Given the description of an element on the screen output the (x, y) to click on. 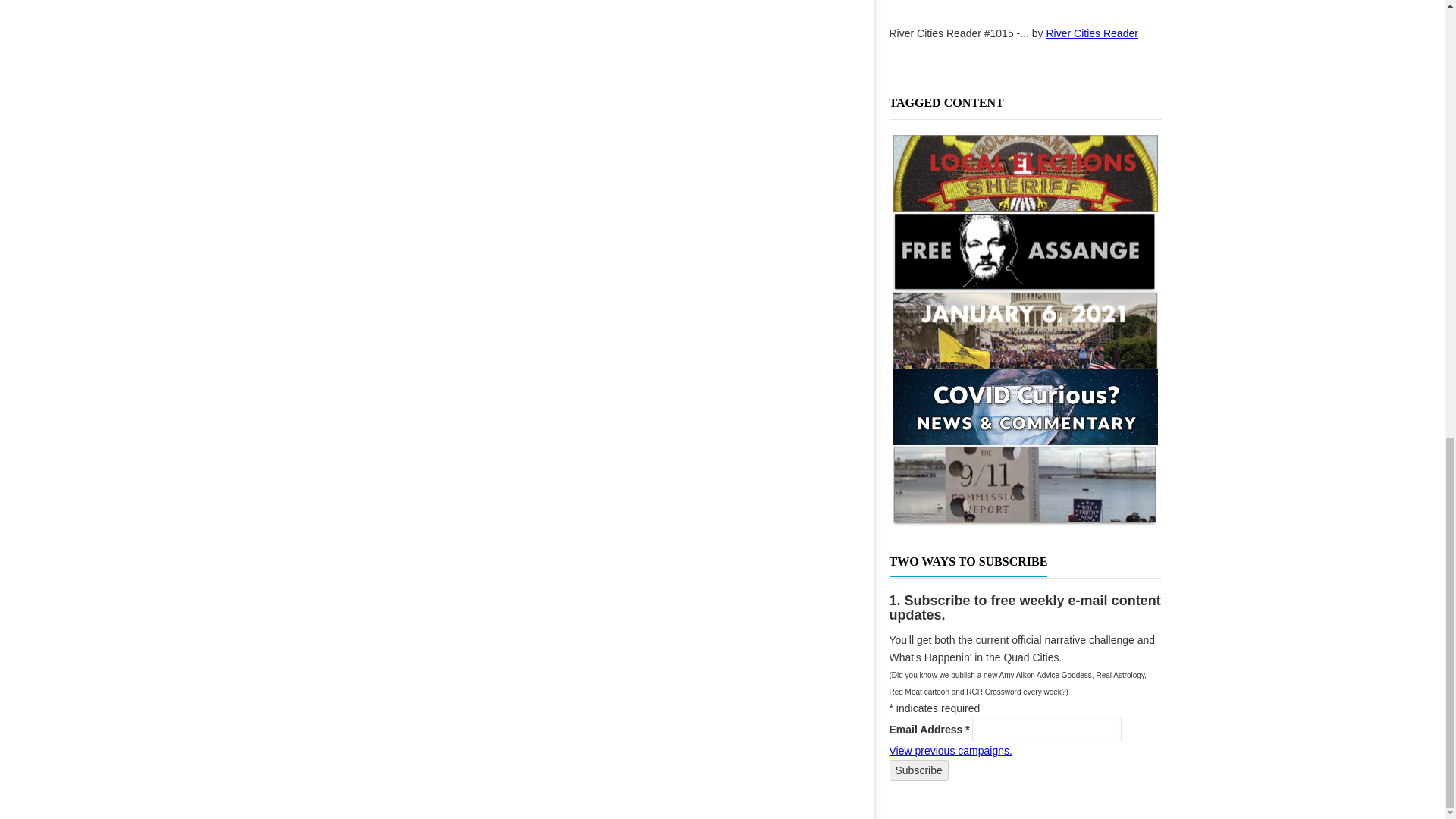
River Cities Reader (1092, 33)
View River Cities Reader's profile on Scribd (1092, 33)
Subscribe (917, 770)
View previous campaigns (949, 750)
